Given the description of an element on the screen output the (x, y) to click on. 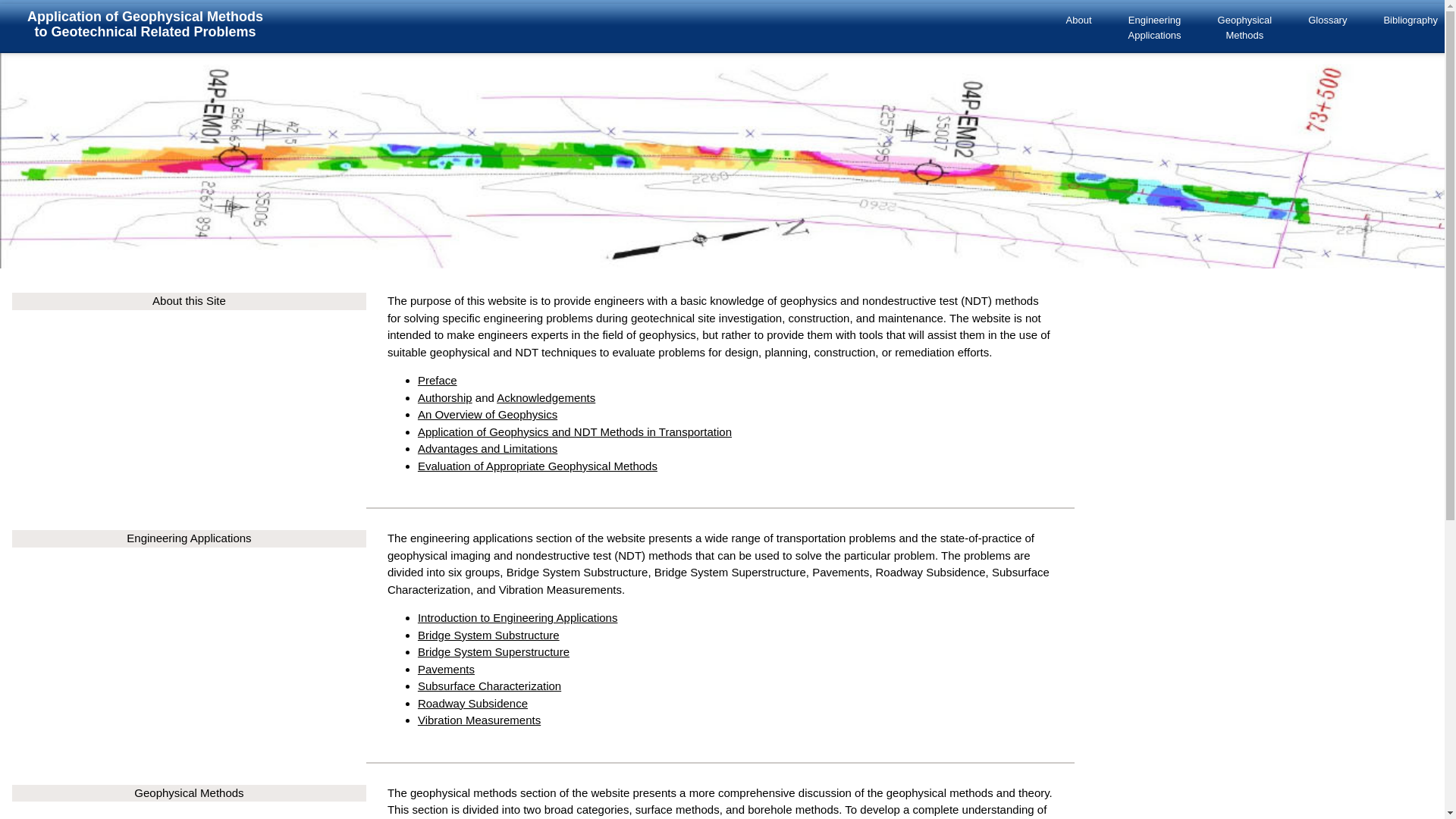
Subsurface Characterization (488, 685)
About (1154, 27)
An Overview of Geophysics (1078, 20)
Authorship (487, 413)
Acknowledgements (444, 397)
Introduction to Engineering Applications (545, 397)
Preface (517, 617)
Vibration Measurements (437, 379)
